Given the description of an element on the screen output the (x, y) to click on. 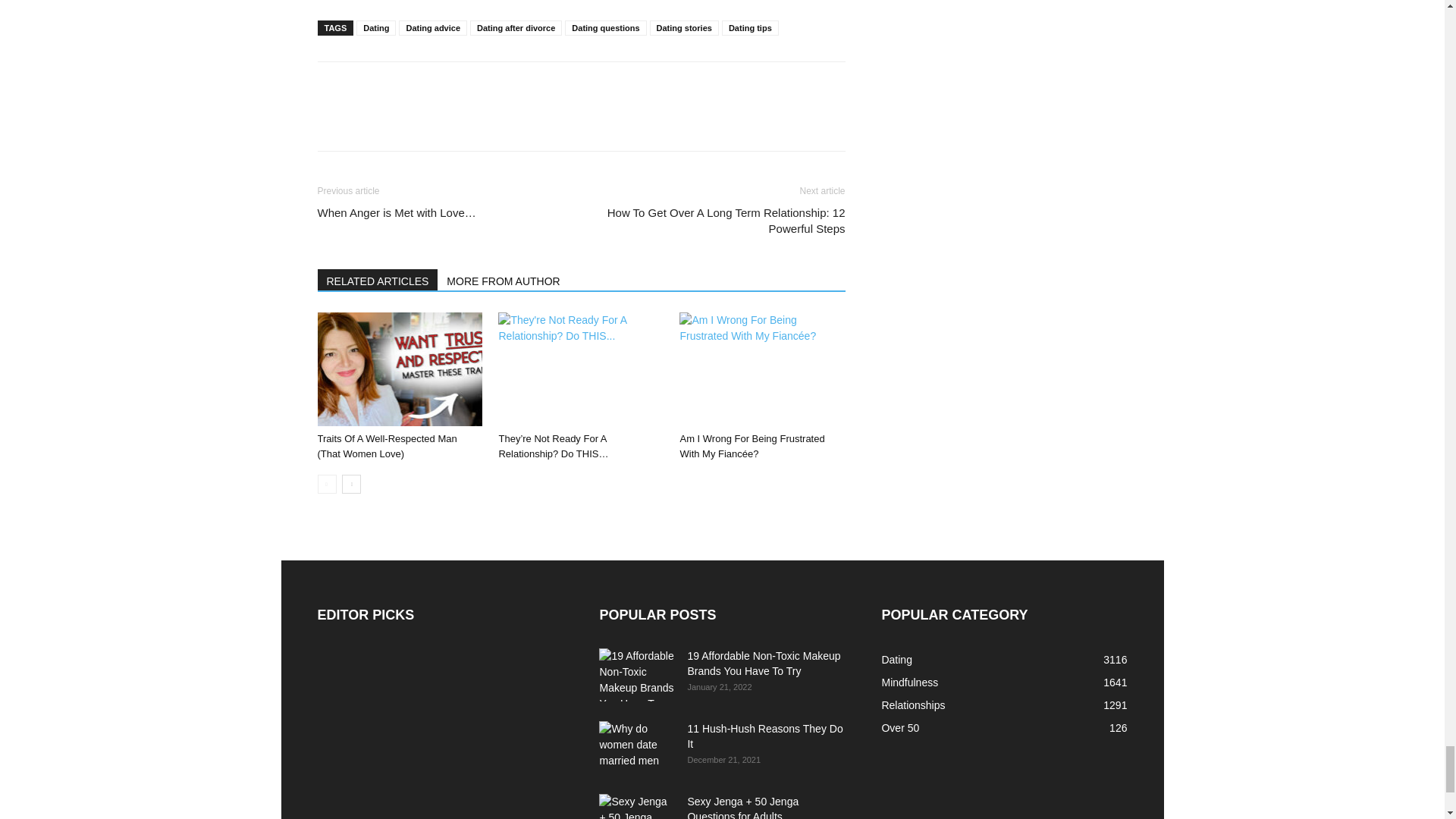
How To Get Over A Long Term Relationship: 12 Powerful Steps (721, 220)
Dating tips (750, 28)
bottomFacebookLike (430, 85)
Dating after divorce (516, 28)
Dating questions (605, 28)
Dating advice (432, 28)
Dating stories (684, 28)
Dating (376, 28)
